Given the description of an element on the screen output the (x, y) to click on. 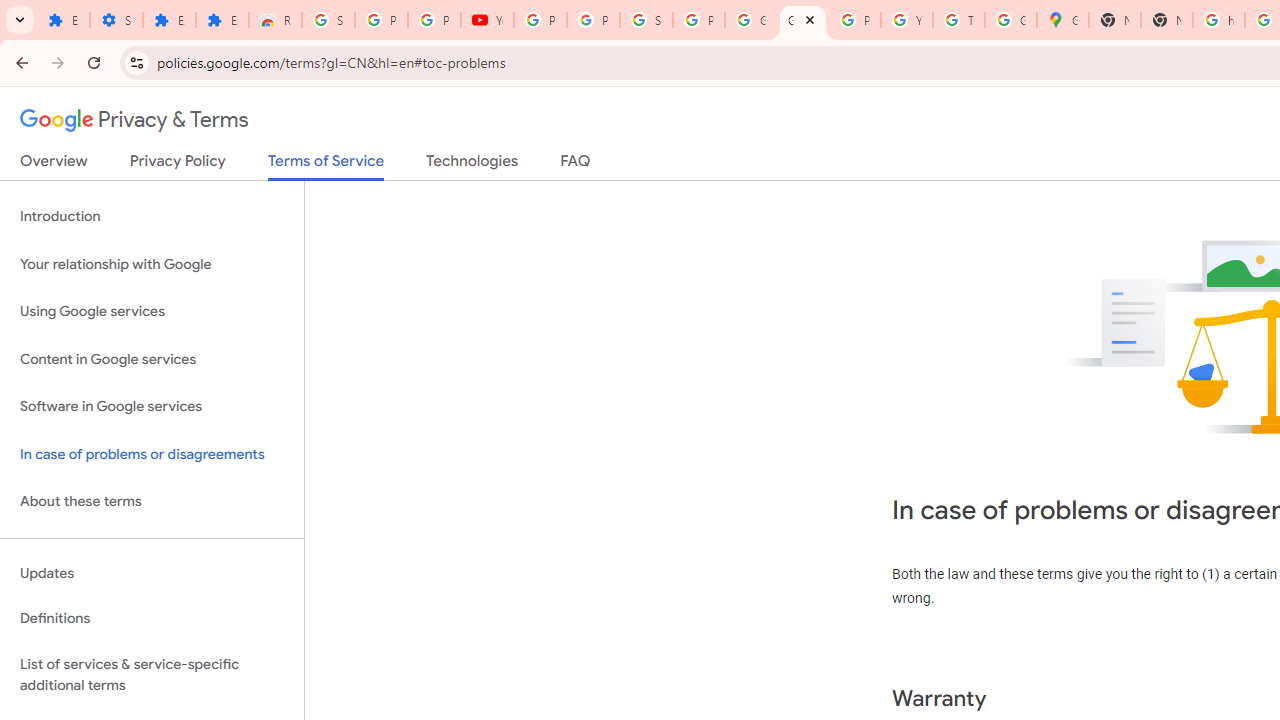
New Tab (1166, 20)
Updates (152, 573)
Extensions (222, 20)
Extensions (63, 20)
New Tab (1114, 20)
Definitions (152, 619)
Content in Google services (152, 358)
Using Google services (152, 312)
In case of problems or disagreements (152, 453)
